Given the description of an element on the screen output the (x, y) to click on. 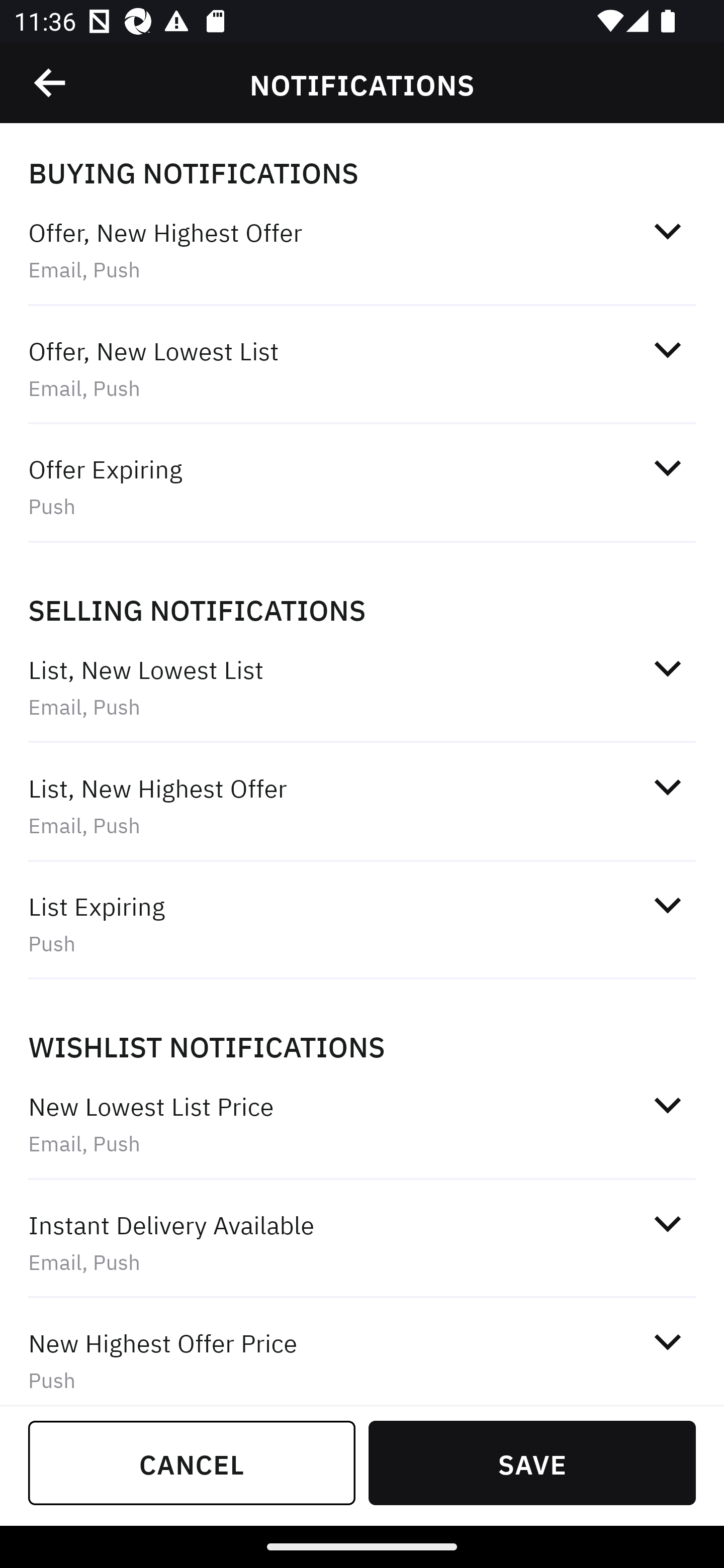
 (50, 83)
Offer, New Highest Offer  Email, Push (361, 249)
 (667, 231)
Offer, New Lowest List  Email, Push (361, 368)
 (667, 350)
Offer Expiring  Push (361, 486)
 (667, 467)
List, New Lowest List  Email, Push (361, 687)
 (667, 668)
List, New Highest Offer  Email, Push (361, 805)
 (667, 787)
List Expiring  Push (361, 924)
 (667, 905)
New Lowest List Price  Email, Push (361, 1123)
 (667, 1104)
Instant Delivery Available  Email, Push (361, 1242)
 (667, 1223)
New Highest Offer Price  Push (361, 1352)
 (667, 1341)
CANCEL (191, 1462)
SAVE (531, 1462)
